Given the description of an element on the screen output the (x, y) to click on. 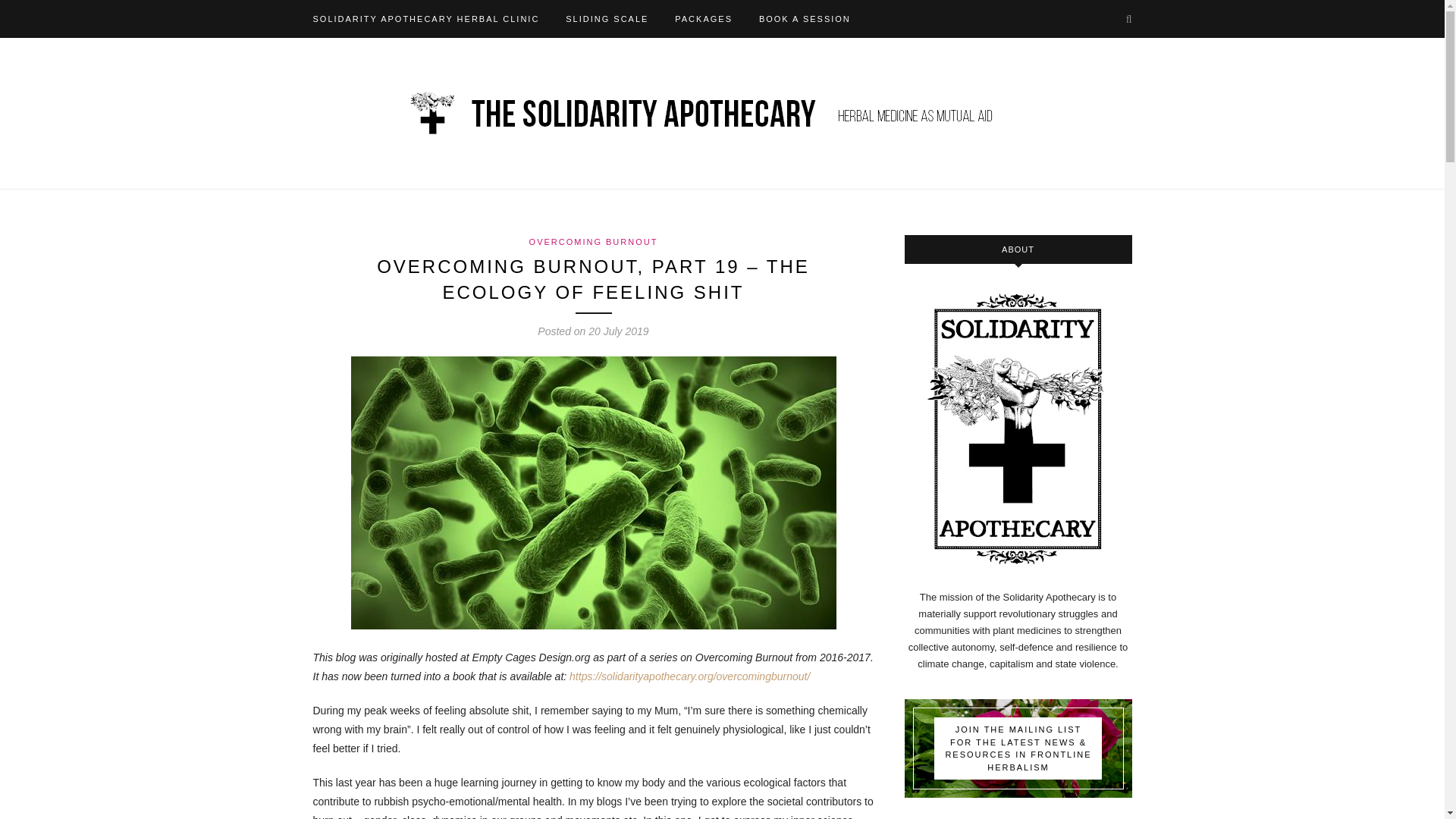
PACKAGES (703, 18)
SOLIDARITY APOTHECARY HERBAL CLINIC (425, 18)
SLIDING SCALE (606, 18)
OVERCOMING BURNOUT (593, 241)
BOOK A SESSION (804, 18)
